Given the description of an element on the screen output the (x, y) to click on. 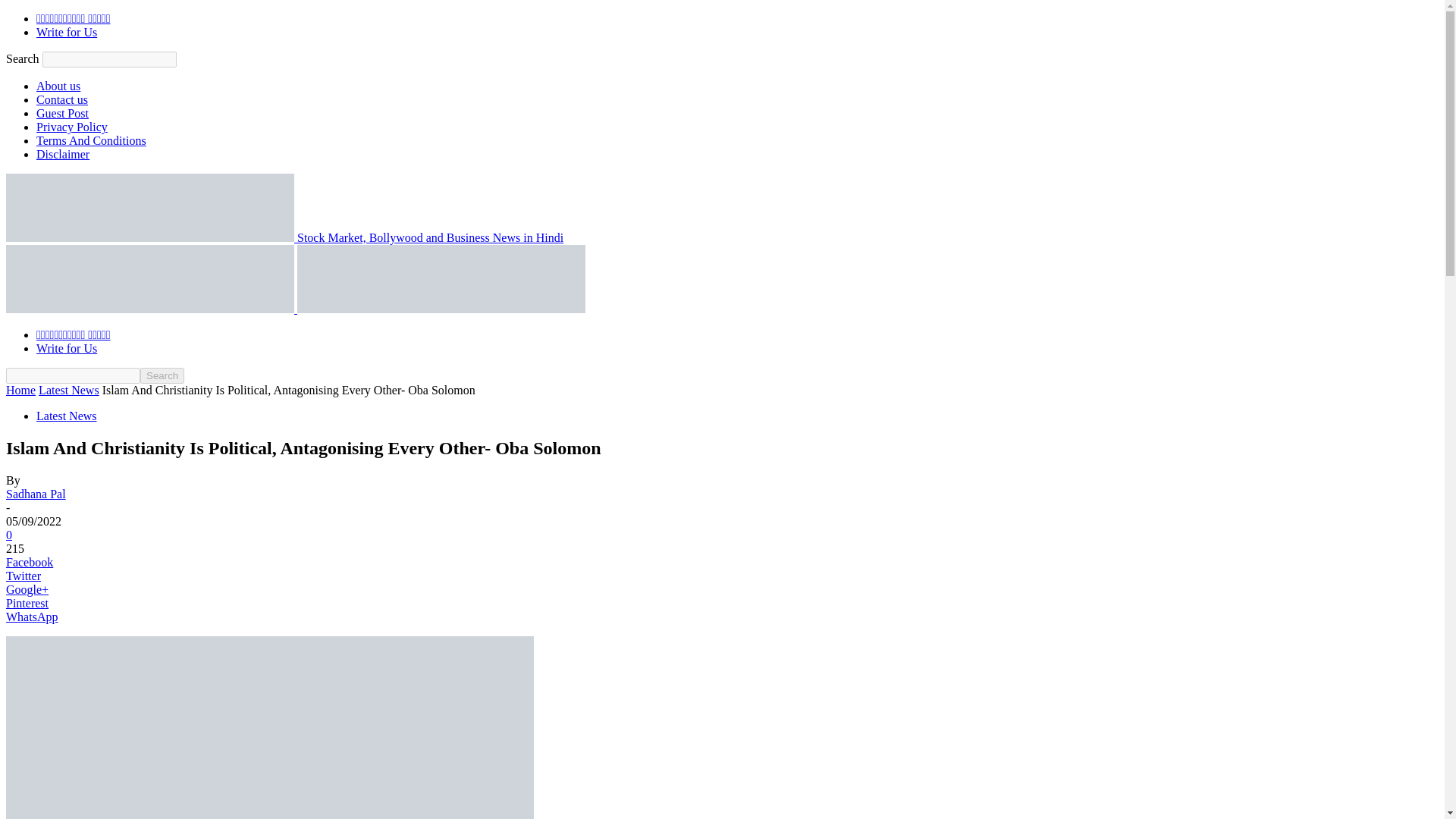
Search (161, 375)
Latest News (69, 390)
Home (19, 390)
Guest Post (62, 113)
About us (58, 85)
Contact us (61, 99)
View all posts in Latest News (69, 390)
Terms And Conditions (91, 140)
Stock Market, Bollywood and Business News in Hindi (284, 237)
Updated (269, 727)
